Given the description of an element on the screen output the (x, y) to click on. 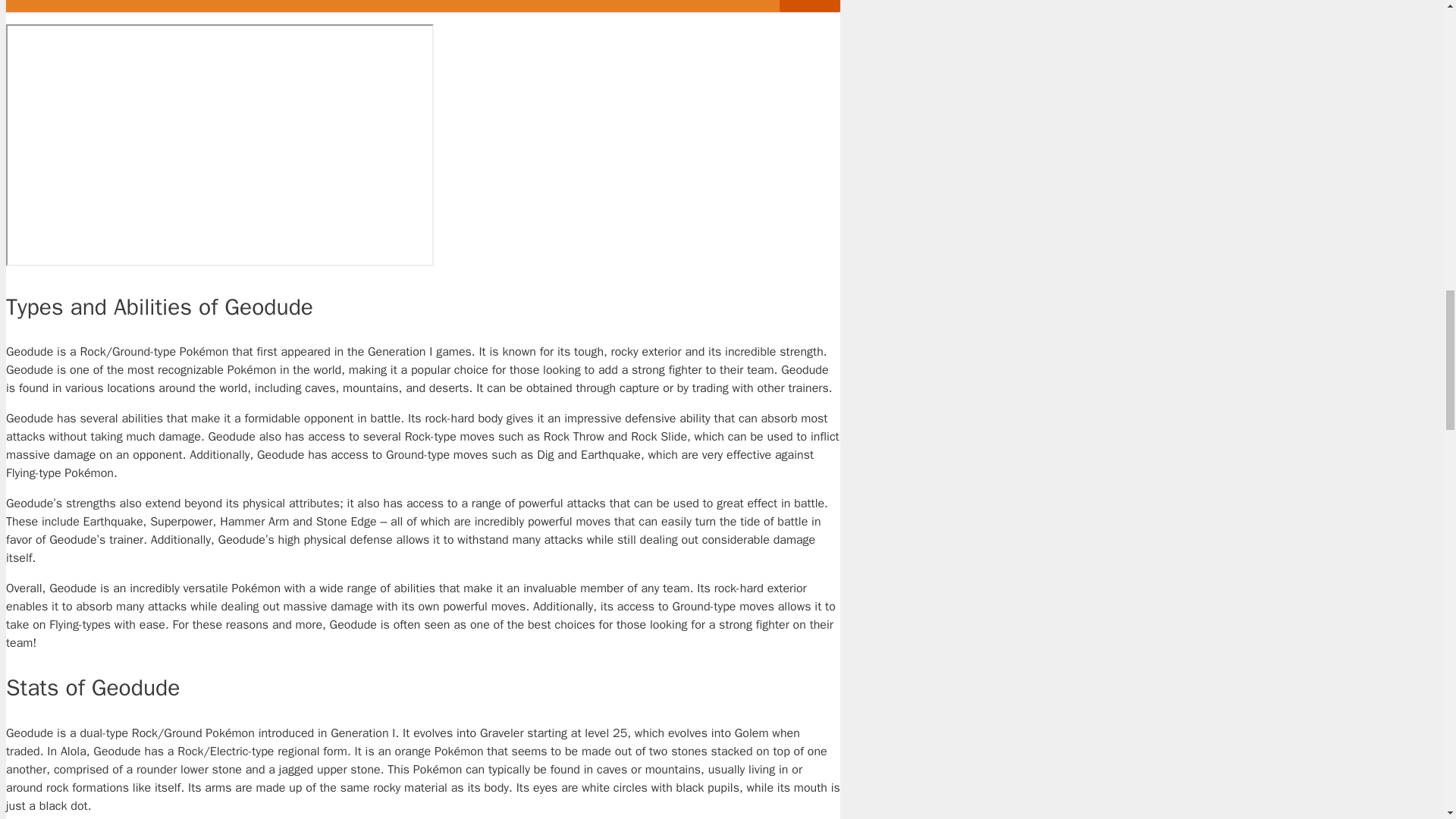
YouTube video player (219, 145)
See also  blue archive kotori (422, 6)
